Given the description of an element on the screen output the (x, y) to click on. 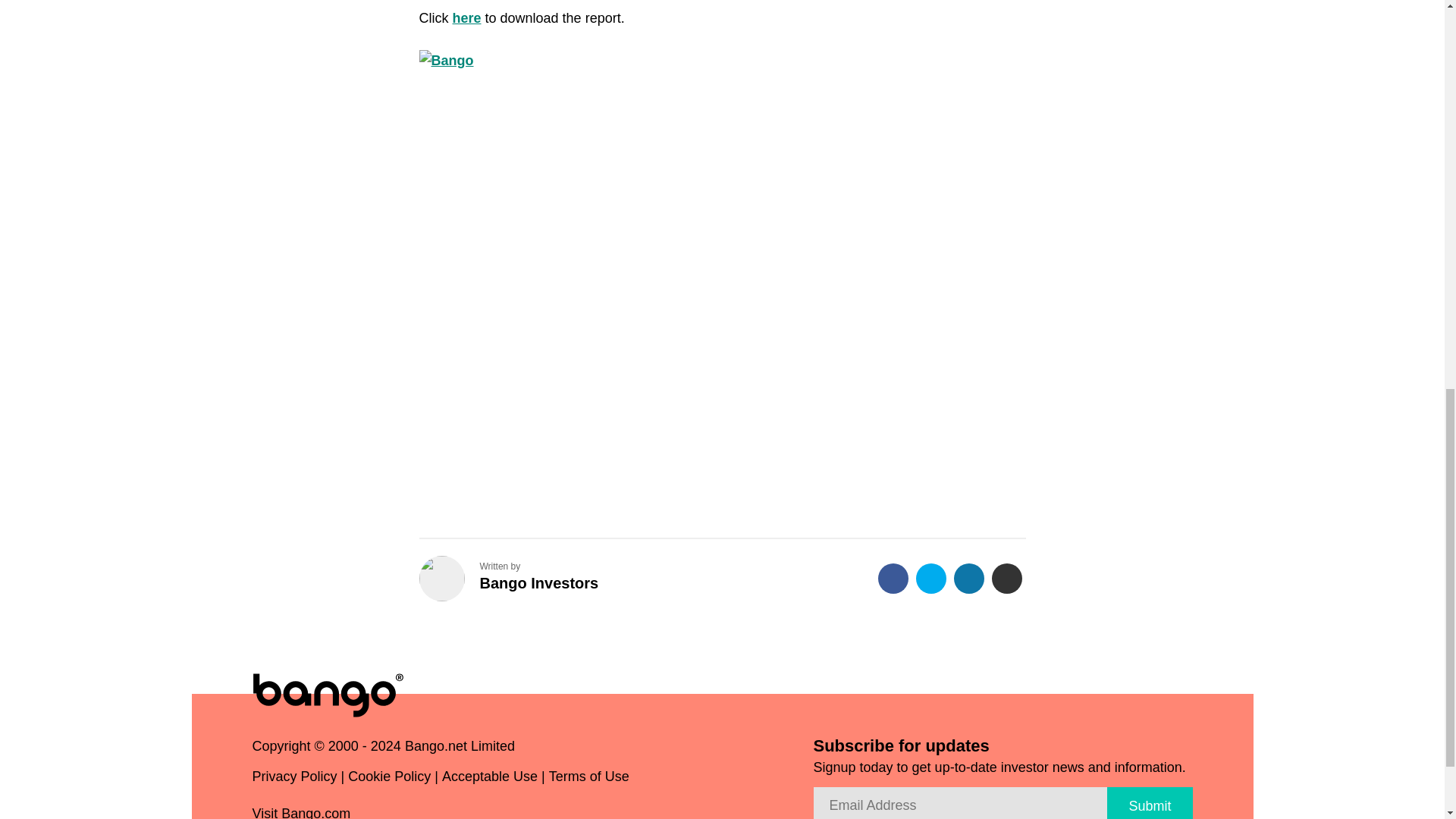
here (465, 17)
Visit Bango.com (306, 811)
Cookie Policy (388, 779)
Terms of Use (588, 779)
Privacy Policy (293, 779)
Acceptable Use (489, 779)
